Given the description of an element on the screen output the (x, y) to click on. 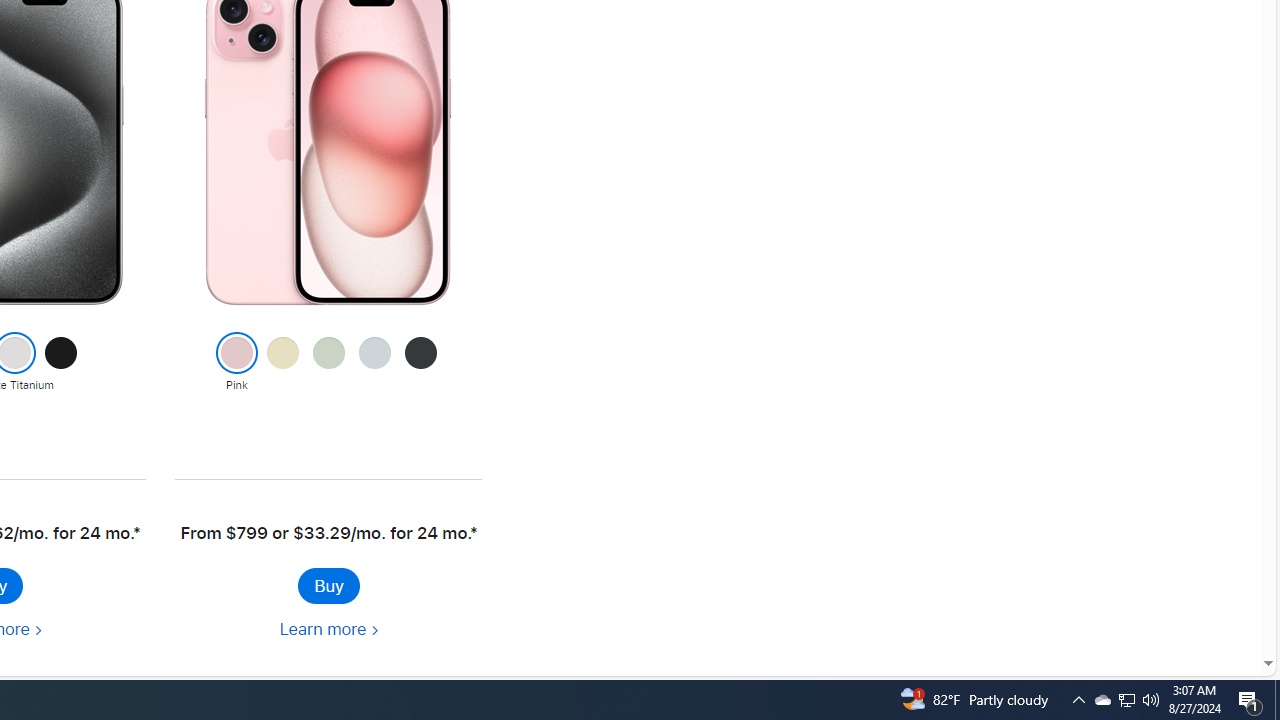
Buy iPhone 15 (328, 585)
Black (420, 363)
Learn more about iPhone 15 (328, 629)
Class: colornav-link (420, 353)
Class: colornav-link current (236, 353)
Black Titanium (61, 363)
Yellow (282, 363)
Pink (236, 363)
Blue (374, 363)
Footnote * symbol (472, 533)
Green (328, 363)
